Given the description of an element on the screen output the (x, y) to click on. 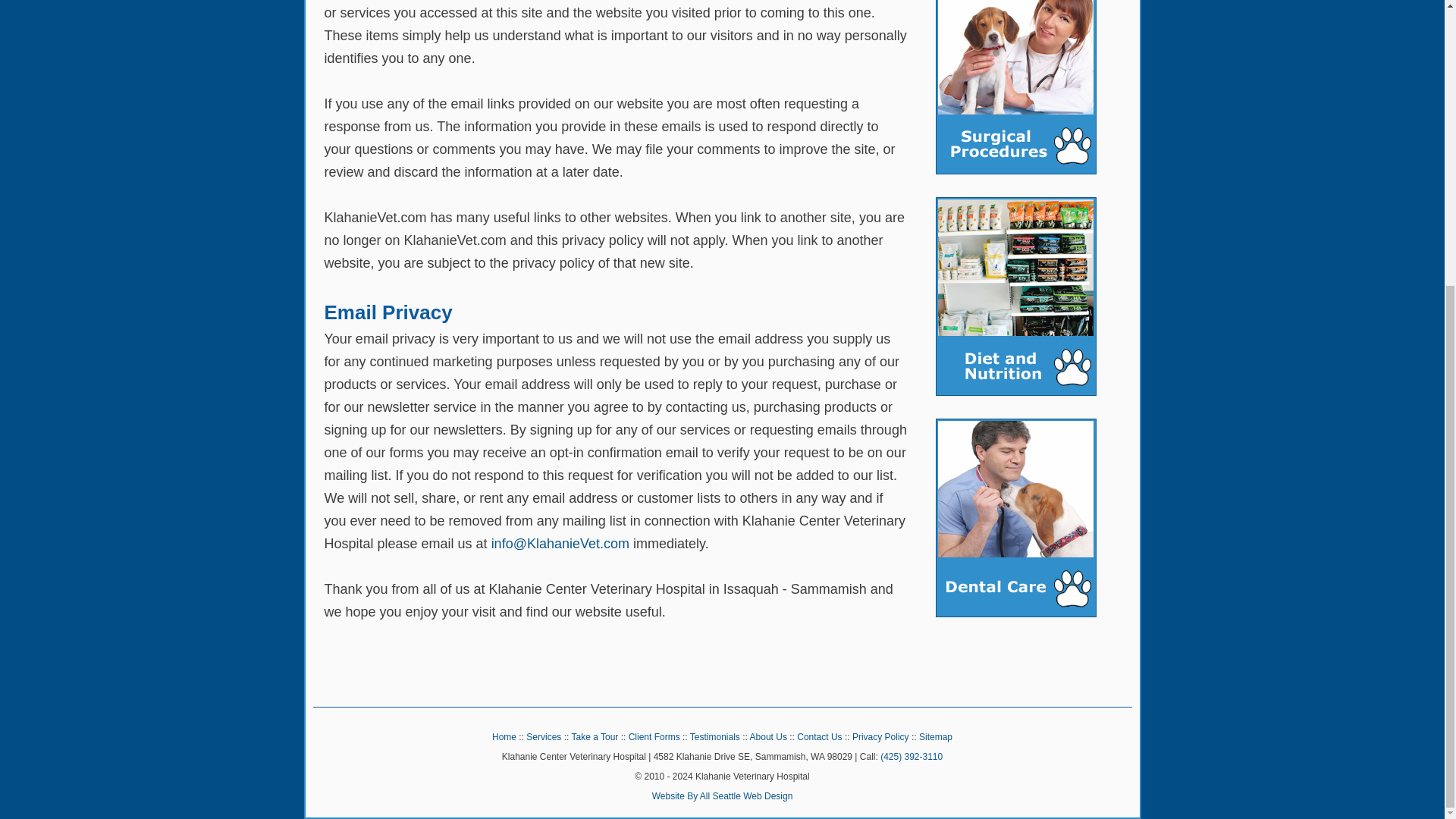
Sitemap (935, 737)
Website By All Seattle Web Design (722, 796)
Pet Surgical Procedures (1016, 87)
About Us (768, 737)
Pet Dental Care (1016, 517)
Pet Diet and Nutrition (1016, 296)
Home (504, 737)
Contact Us (818, 737)
Services (542, 737)
Testimonials (714, 737)
Client Forms (653, 737)
Take a Tour (595, 737)
Privacy Policy (879, 737)
